Given the description of an element on the screen output the (x, y) to click on. 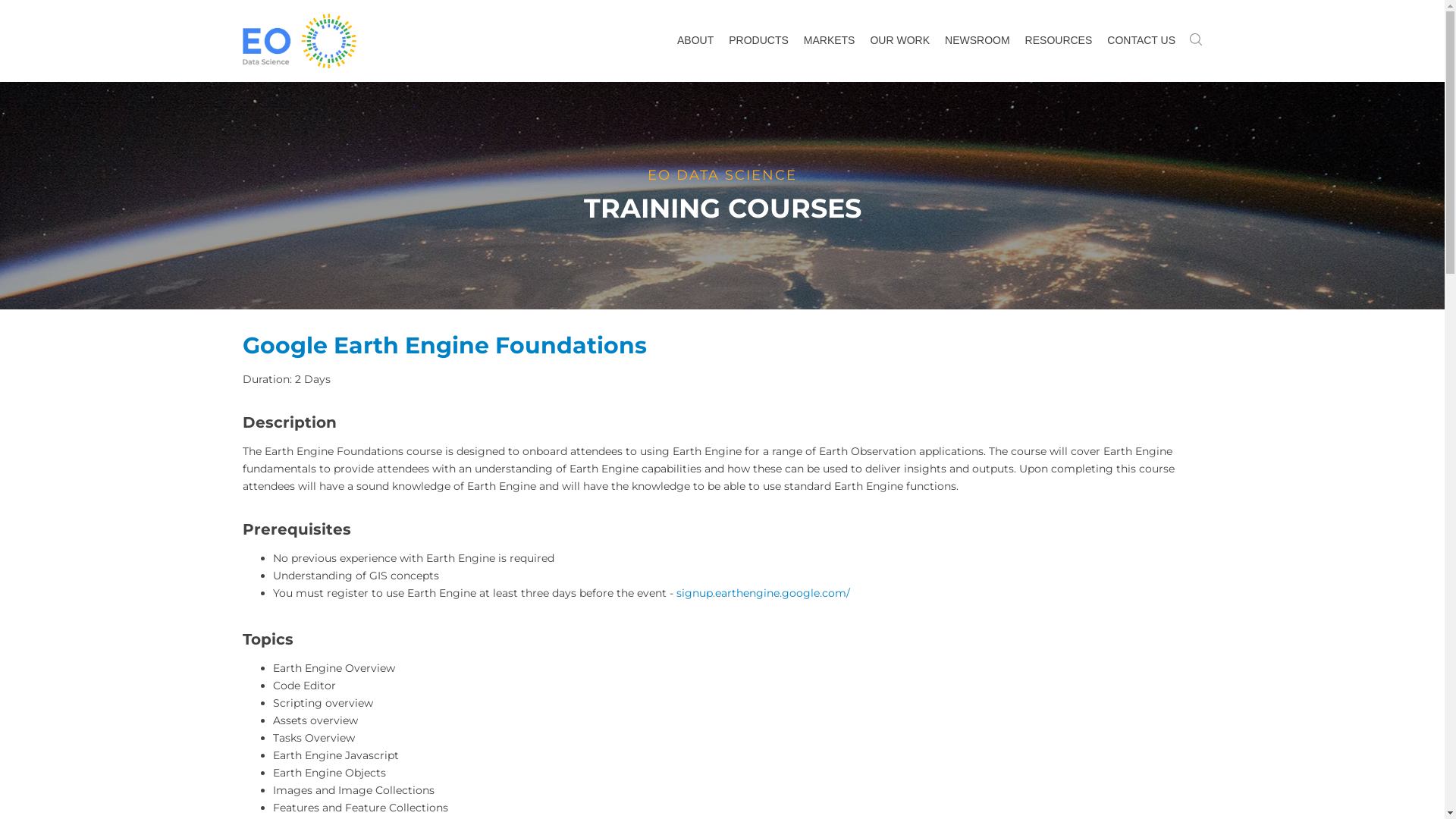
RESOURCES Element type: text (1058, 40)
ABOUT Element type: text (695, 40)
CONTACT US Element type: text (1141, 40)
MARKETS Element type: text (829, 40)
OUR WORK Element type: text (899, 40)
NEWSROOM Element type: text (977, 40)
signup.earthengine.google.com/ Element type: text (763, 592)
PRODUCTS Element type: text (758, 40)
